Given the description of an element on the screen output the (x, y) to click on. 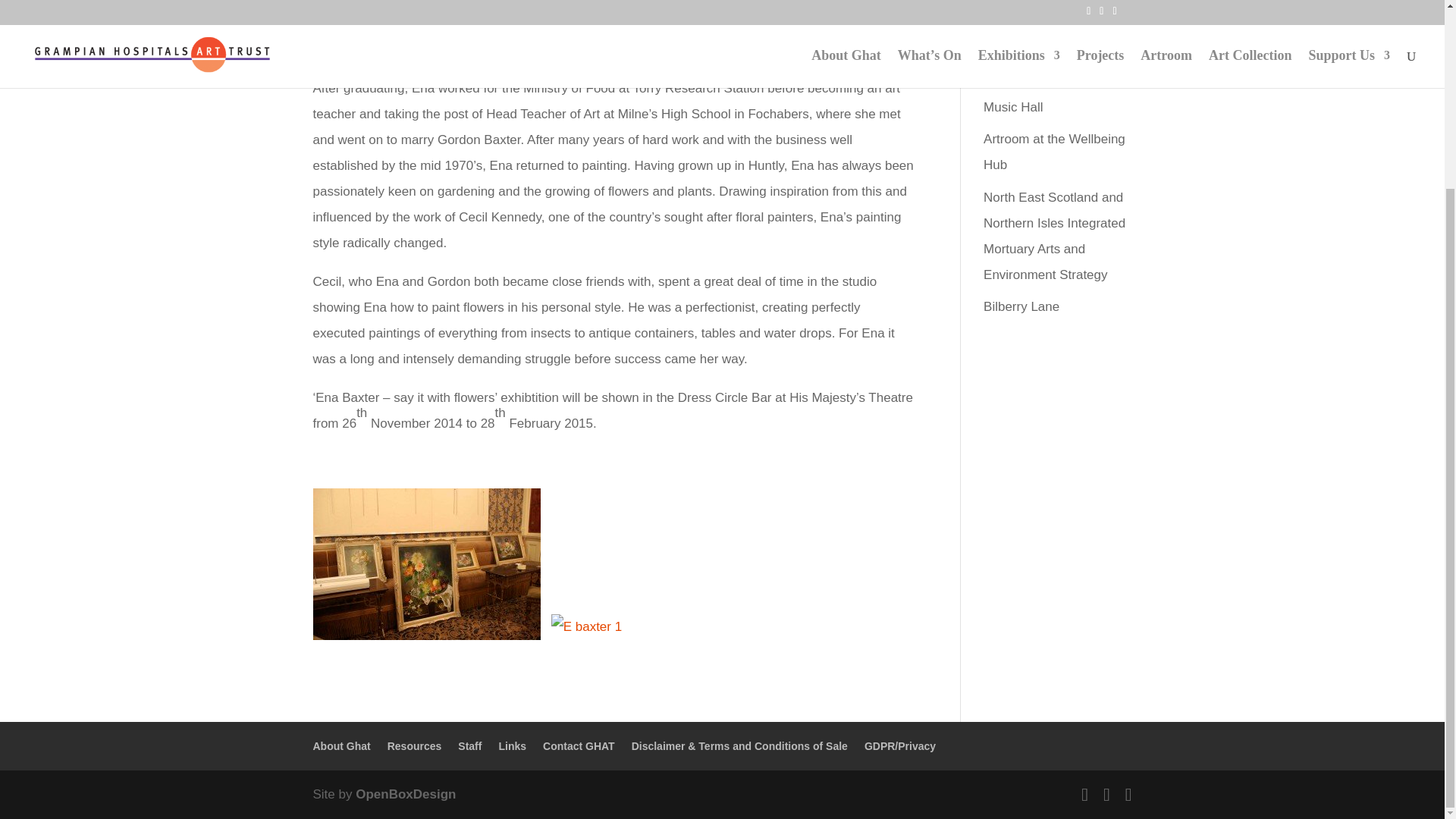
GHAT Collection at the Music Hall (1048, 93)
Bilberry Lane (1021, 306)
Links (511, 746)
Artroom at the Wellbeing Hub (1054, 151)
About Ghat (341, 746)
Resources (414, 746)
Staff (469, 746)
Contact GHAT (578, 746)
